Given the description of an element on the screen output the (x, y) to click on. 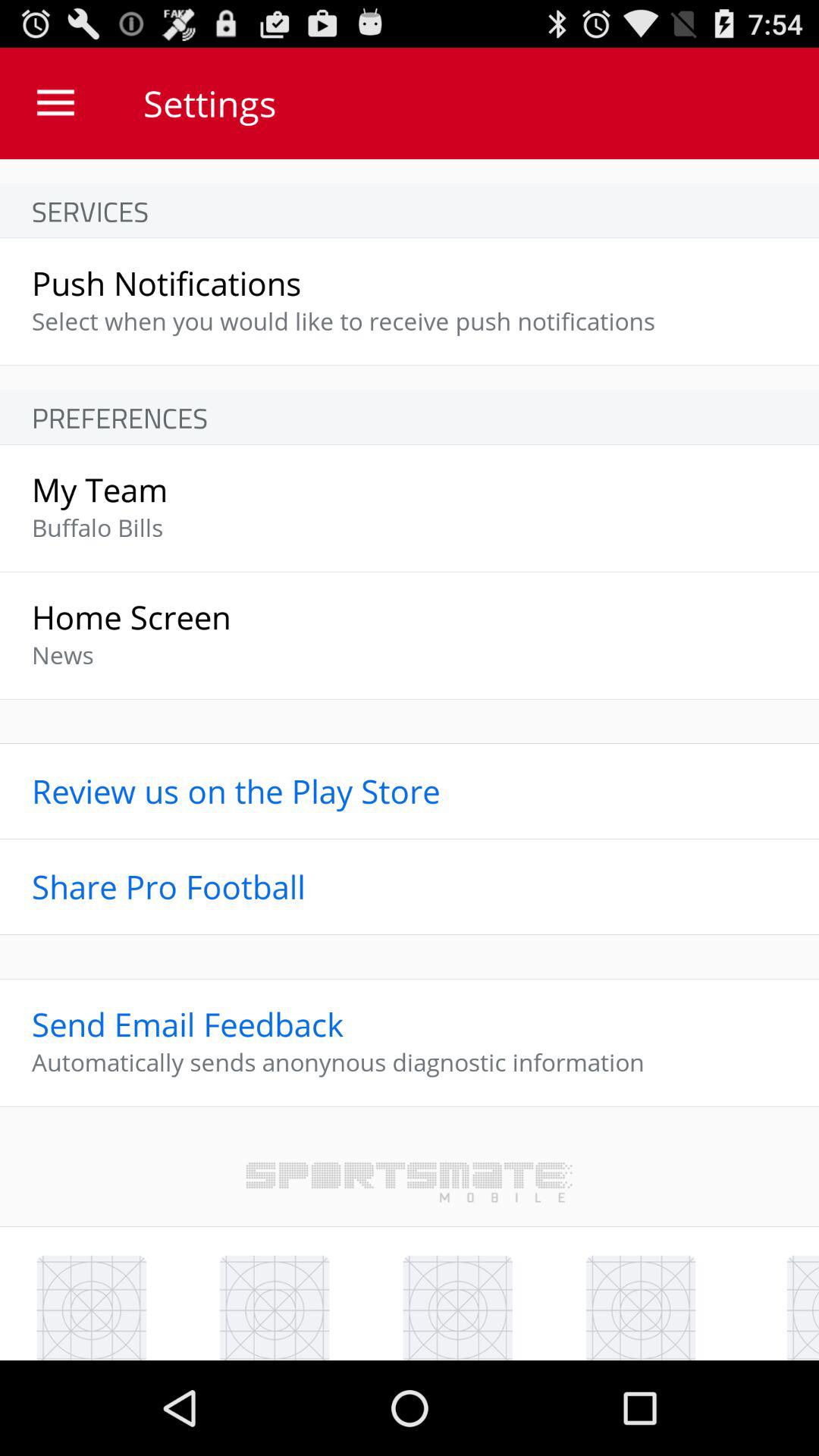
select the icon above services (55, 103)
